Given the description of an element on the screen output the (x, y) to click on. 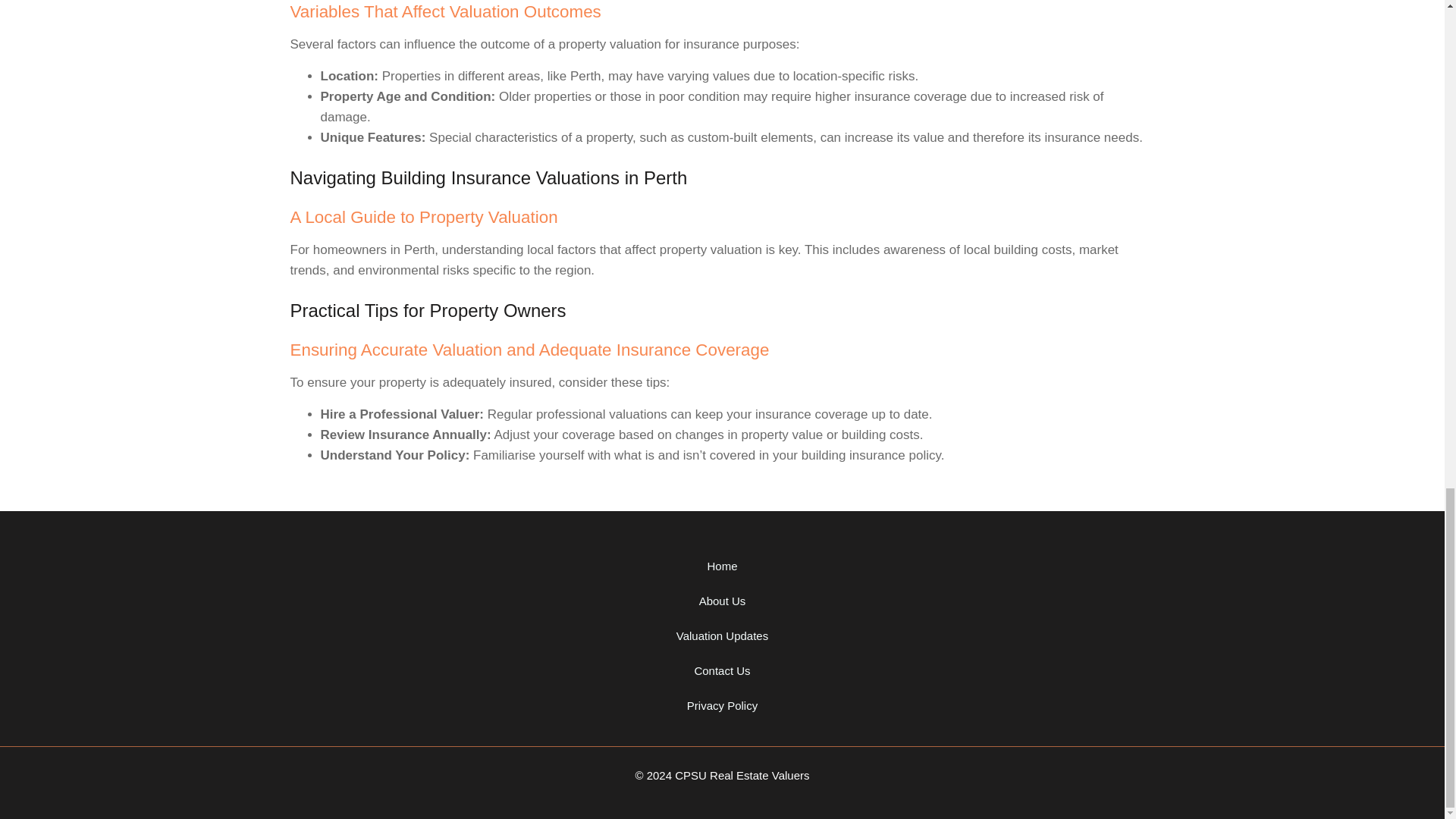
Valuation Updates (722, 636)
Privacy Policy (722, 705)
Home (722, 565)
Contact Us (722, 670)
About Us (722, 601)
